Given the description of an element on the screen output the (x, y) to click on. 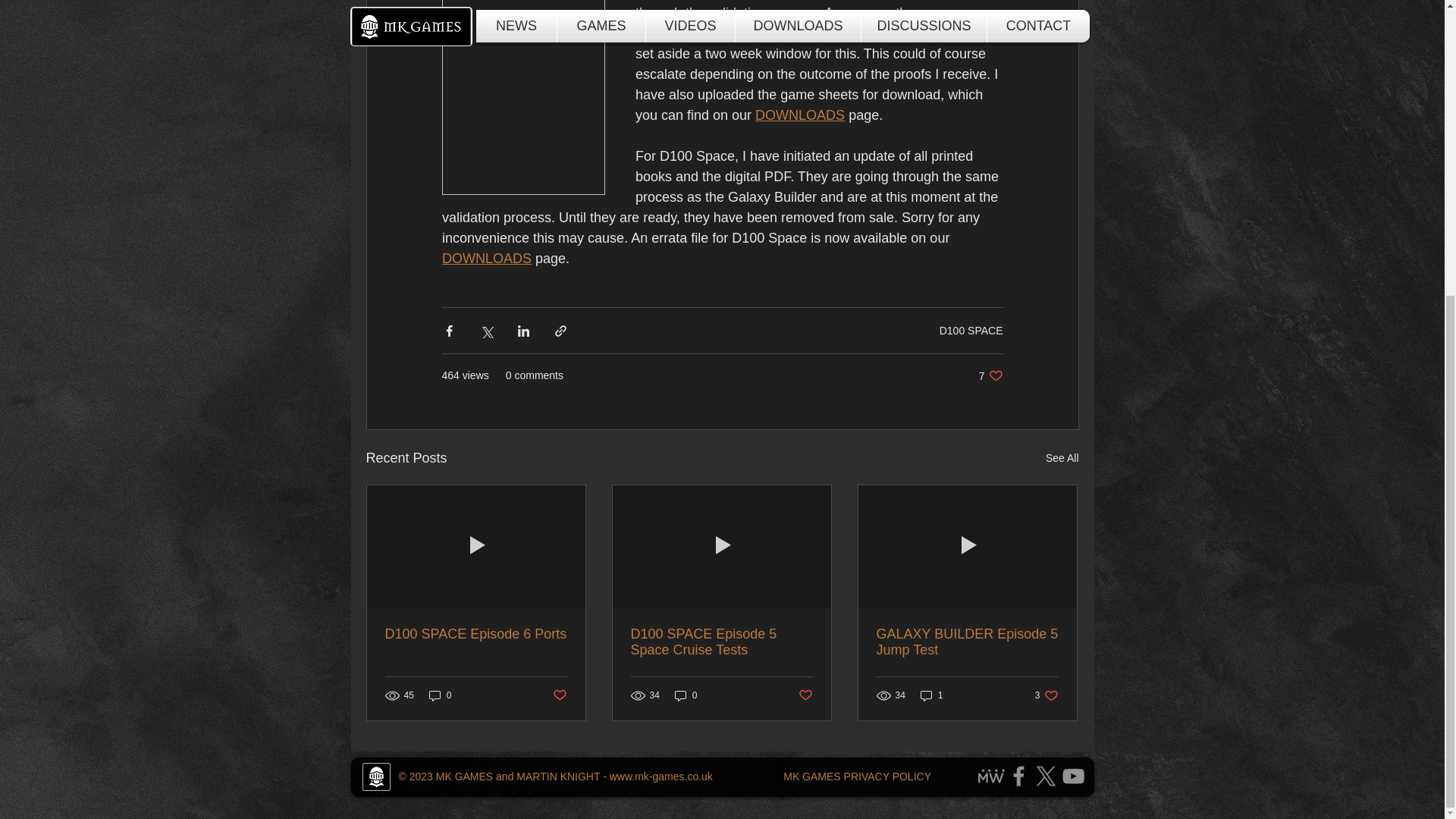
See All (1061, 458)
D100 SPACE Episode 6 Ports (476, 634)
D100 SPACE (971, 329)
0 (990, 375)
DOWNLOADS (440, 694)
DOWNLOADS (486, 258)
